Given the description of an element on the screen output the (x, y) to click on. 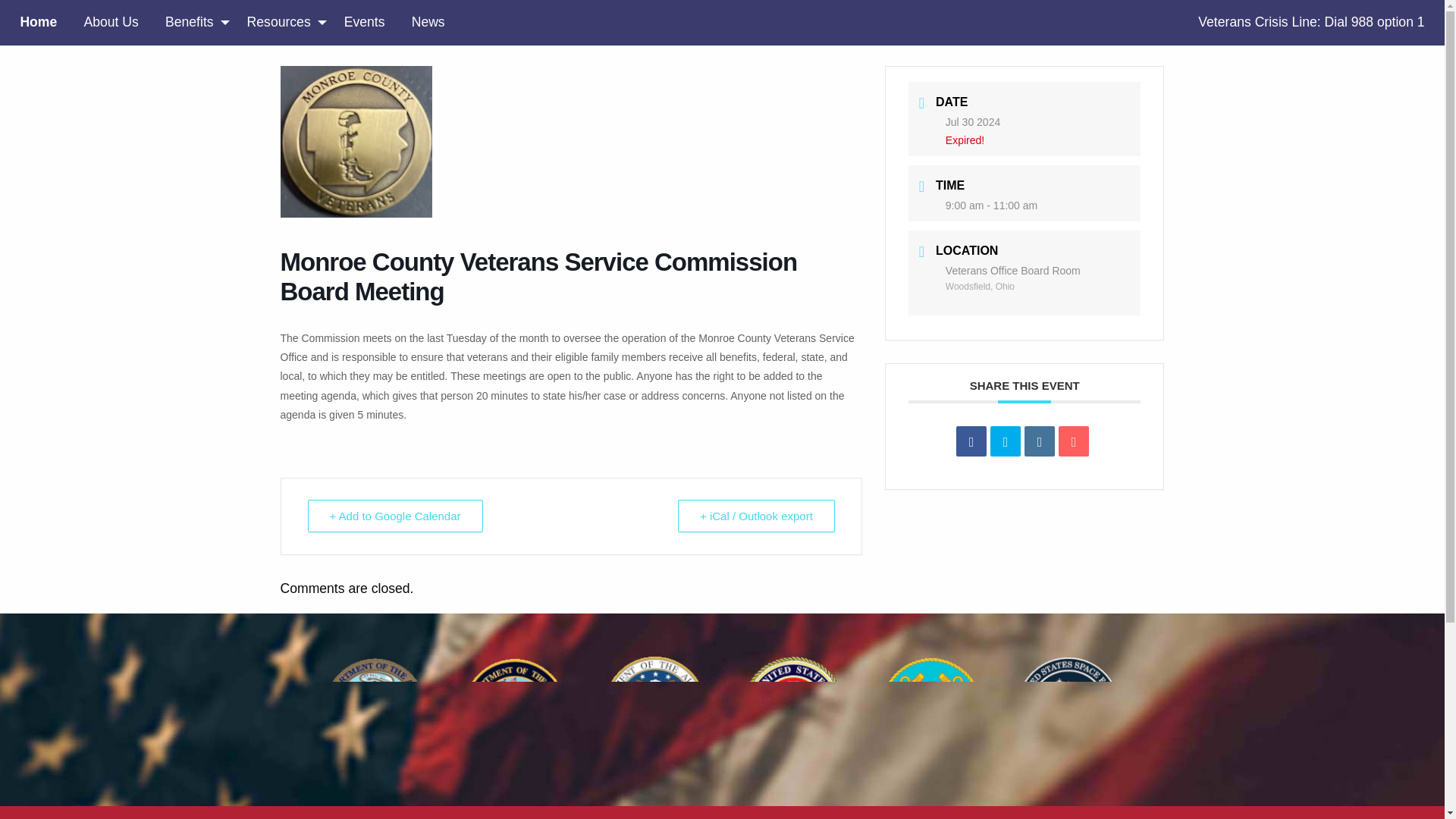
About Us (110, 22)
Benefits (191, 22)
Home (38, 22)
